Given the description of an element on the screen output the (x, y) to click on. 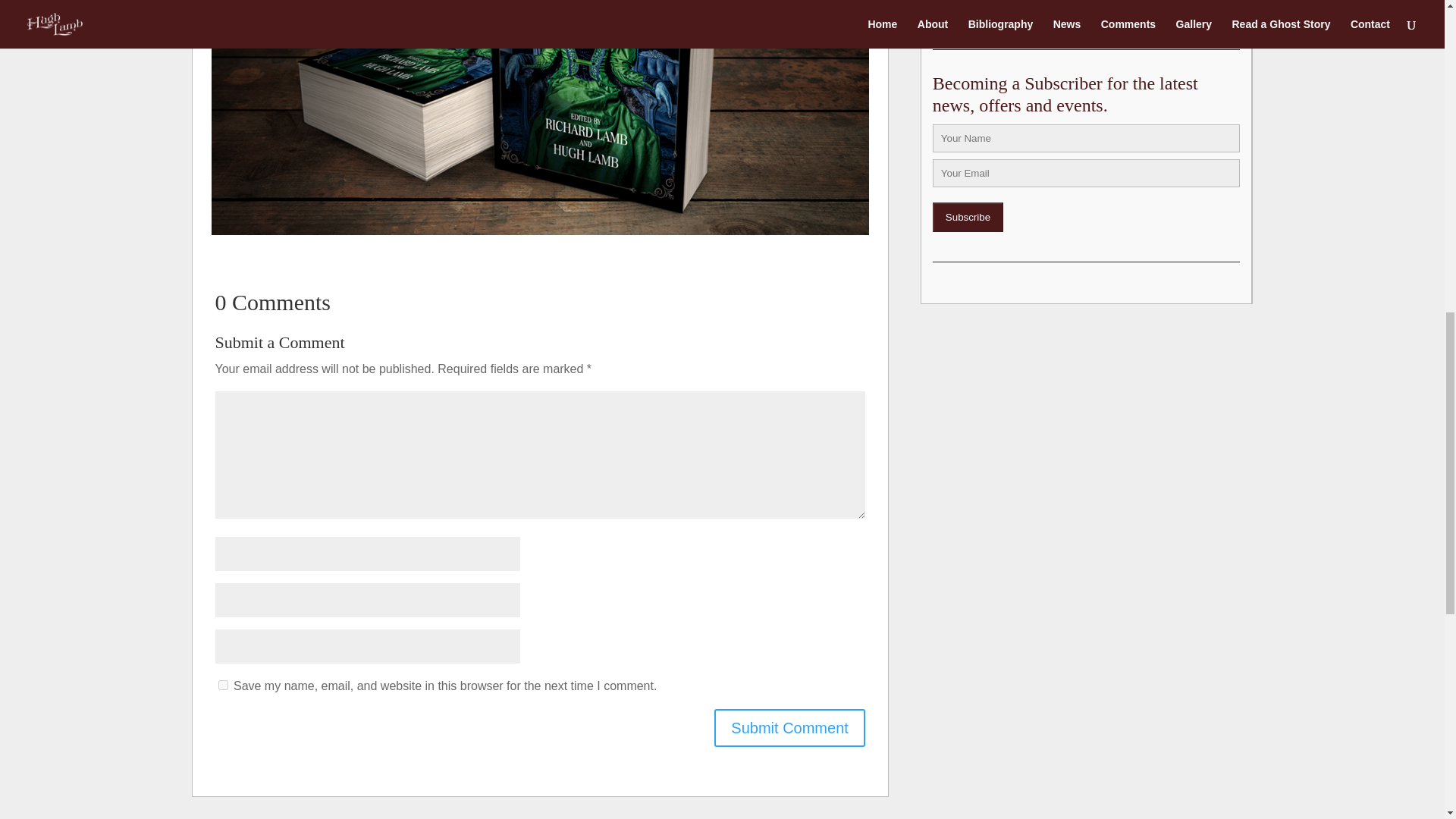
Submit Comment (789, 727)
Subscribe (968, 216)
yes (223, 685)
BUY (980, 7)
Subscribe (968, 216)
